Given the description of an element on the screen output the (x, y) to click on. 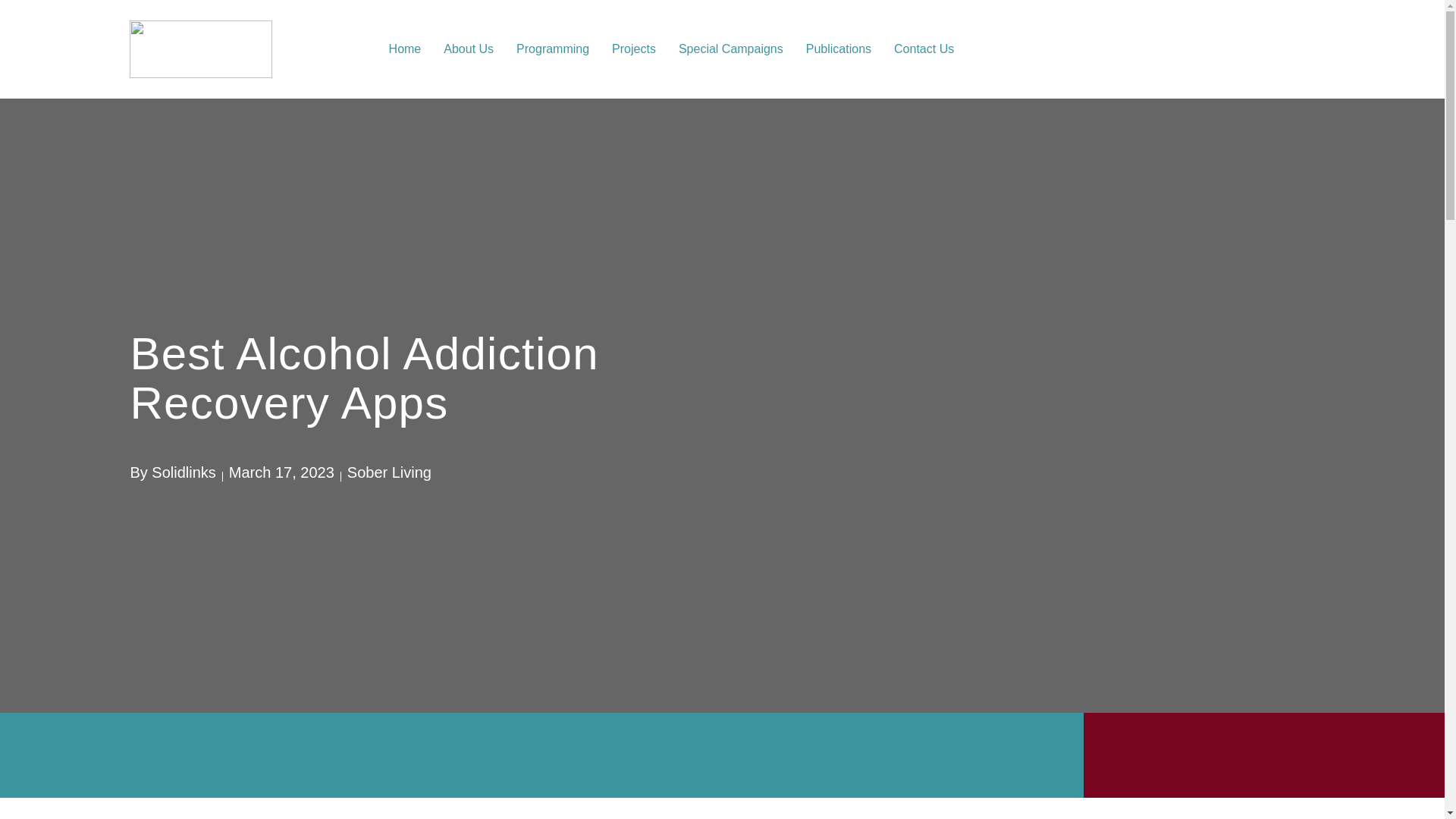
Projects (633, 48)
Home (405, 48)
Special Campaigns (730, 48)
About Us (468, 48)
Publications (838, 48)
Programming (552, 48)
Contact Us (923, 48)
